Given the description of an element on the screen output the (x, y) to click on. 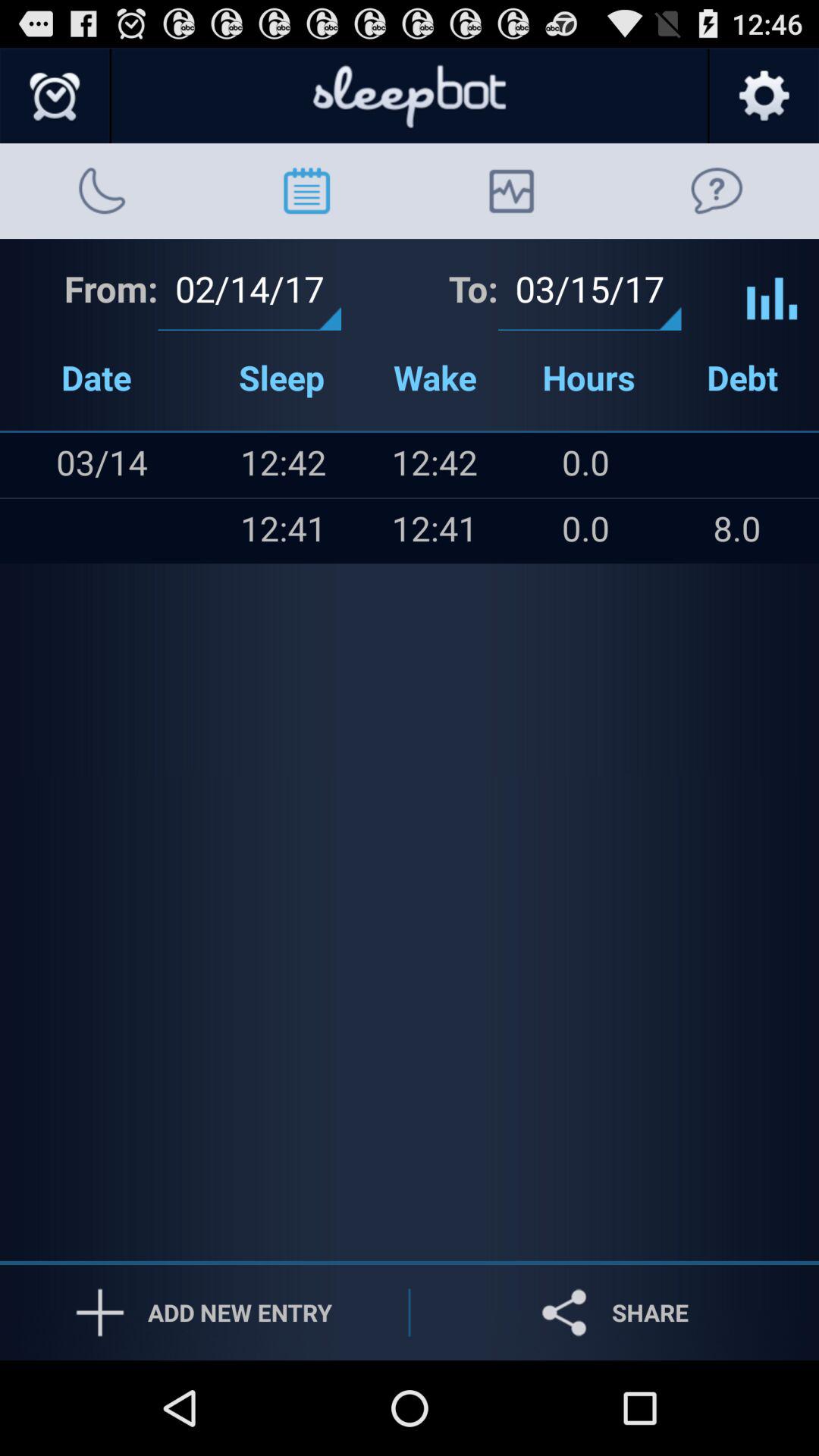
launch app next to 12:42 icon (131, 531)
